Given the description of an element on the screen output the (x, y) to click on. 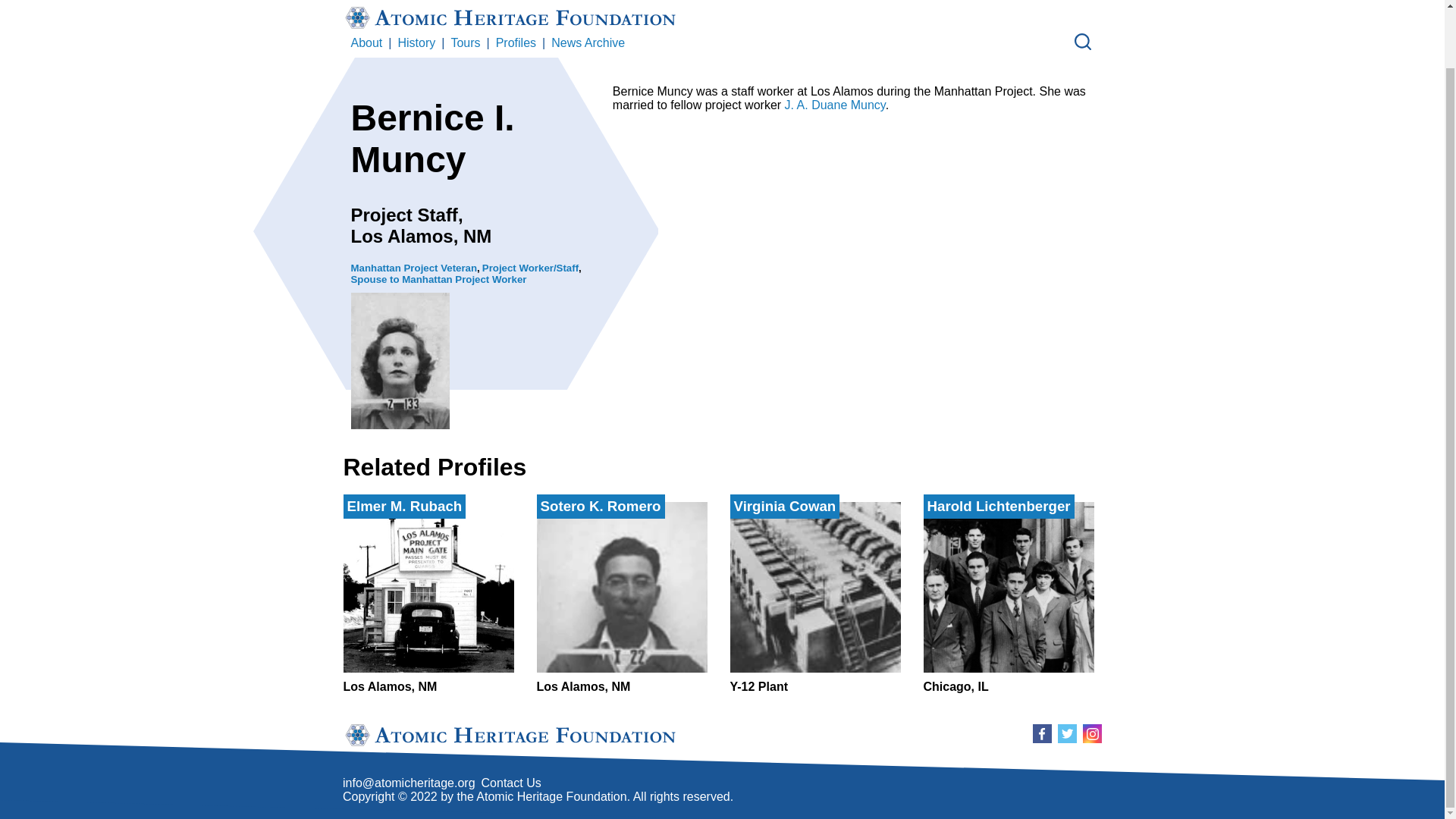
News Archive (587, 42)
Spouse to Manhattan Project Worker (437, 279)
History (416, 42)
J. A. Duane Muncy (622, 597)
About (834, 104)
Manhattan Project Veteran (365, 42)
Profiles (1008, 597)
Contact Us (413, 267)
Tours (427, 597)
